Given the description of an element on the screen output the (x, y) to click on. 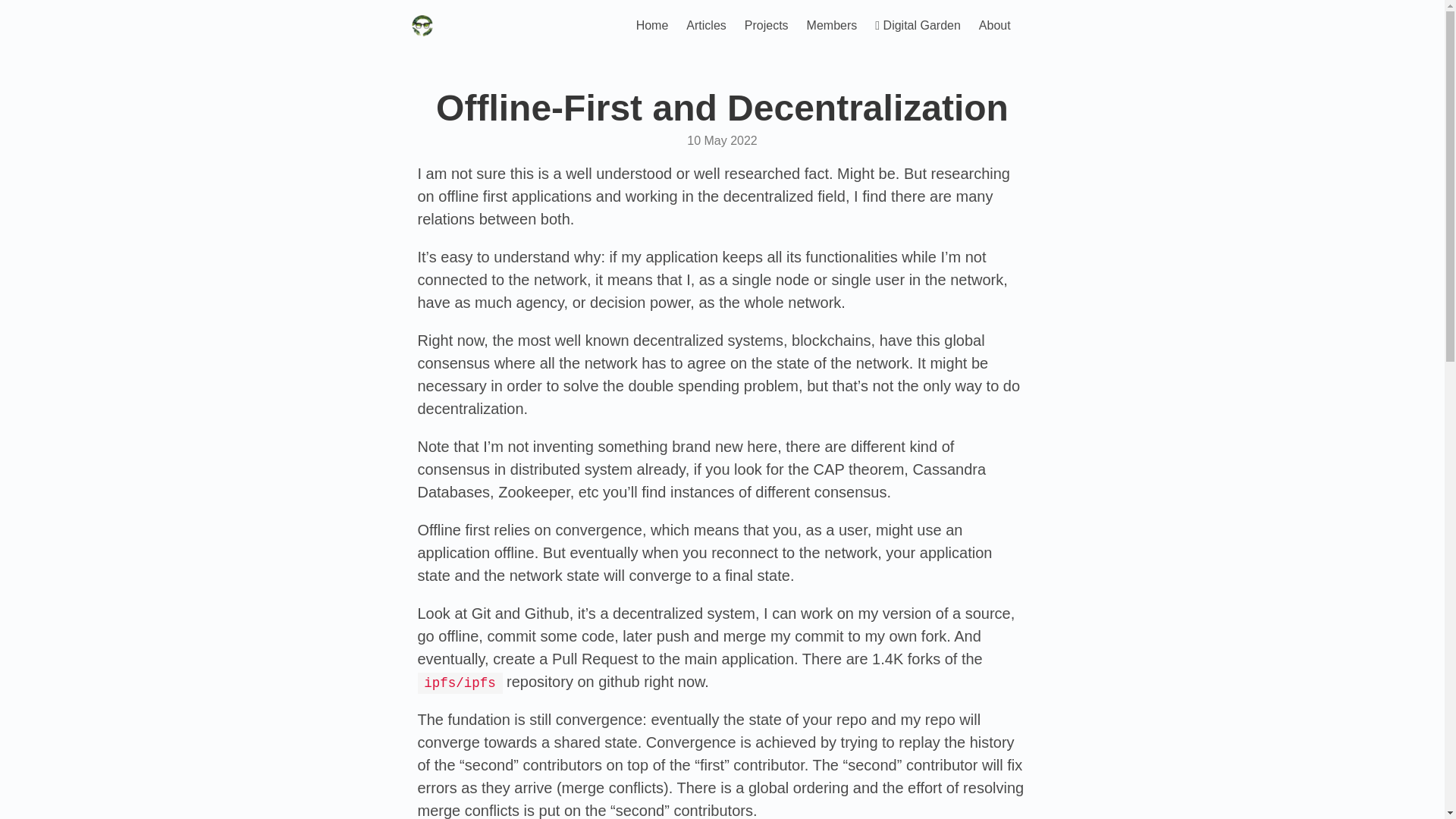
Members page (831, 25)
Home (652, 25)
About (994, 25)
Home page (652, 25)
Projects (766, 25)
Projects page (766, 25)
Articles (706, 25)
Members (831, 25)
About page (994, 25)
Articles page (706, 25)
